Given the description of an element on the screen output the (x, y) to click on. 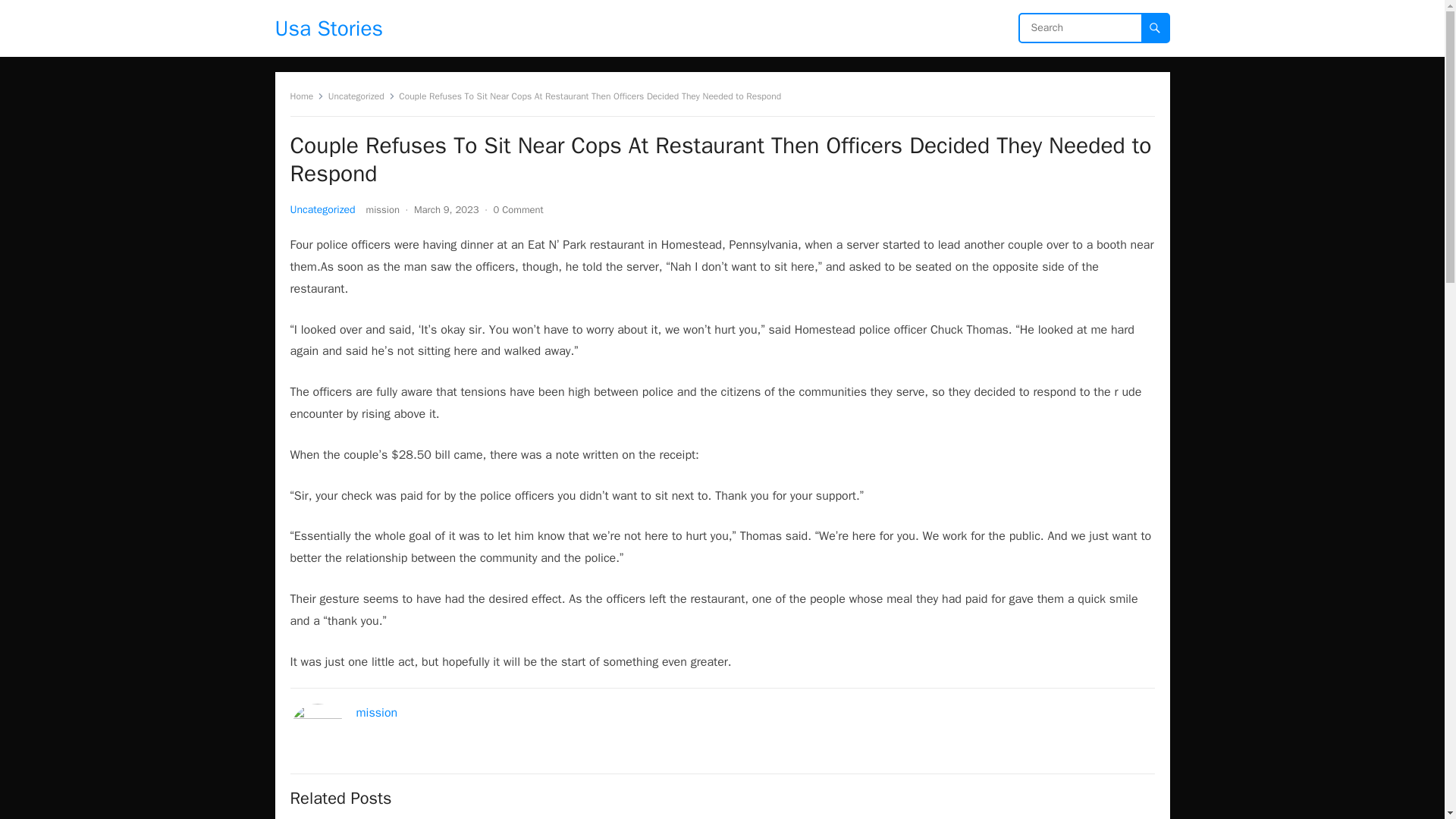
Home (306, 96)
Usa Stories (328, 28)
Uncategorized (361, 96)
mission (376, 712)
0 Comment (518, 209)
mission (382, 209)
Posts by mission (382, 209)
Uncategorized (322, 209)
